Given the description of an element on the screen output the (x, y) to click on. 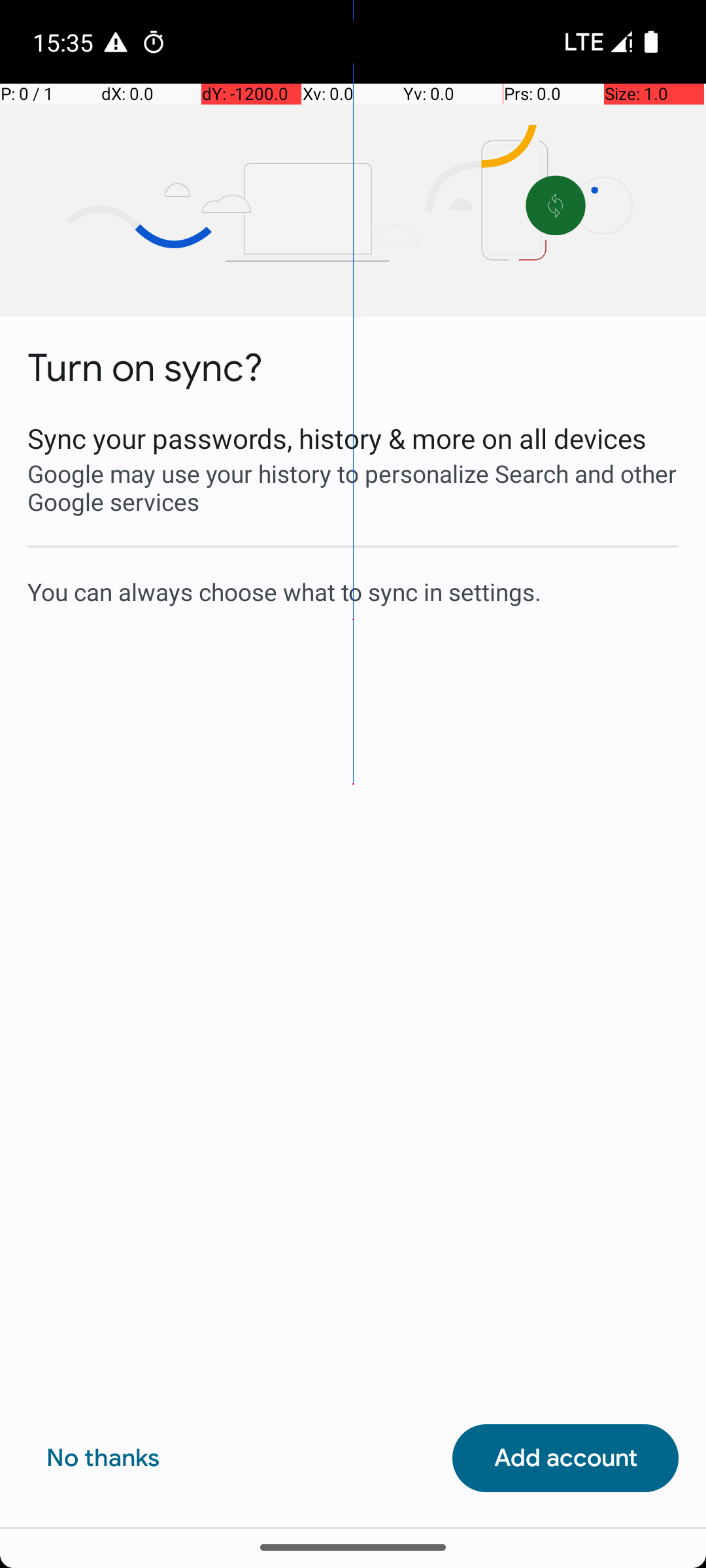
15:35 Element type: android.widget.TextView (64, 41)
